Given the description of an element on the screen output the (x, y) to click on. 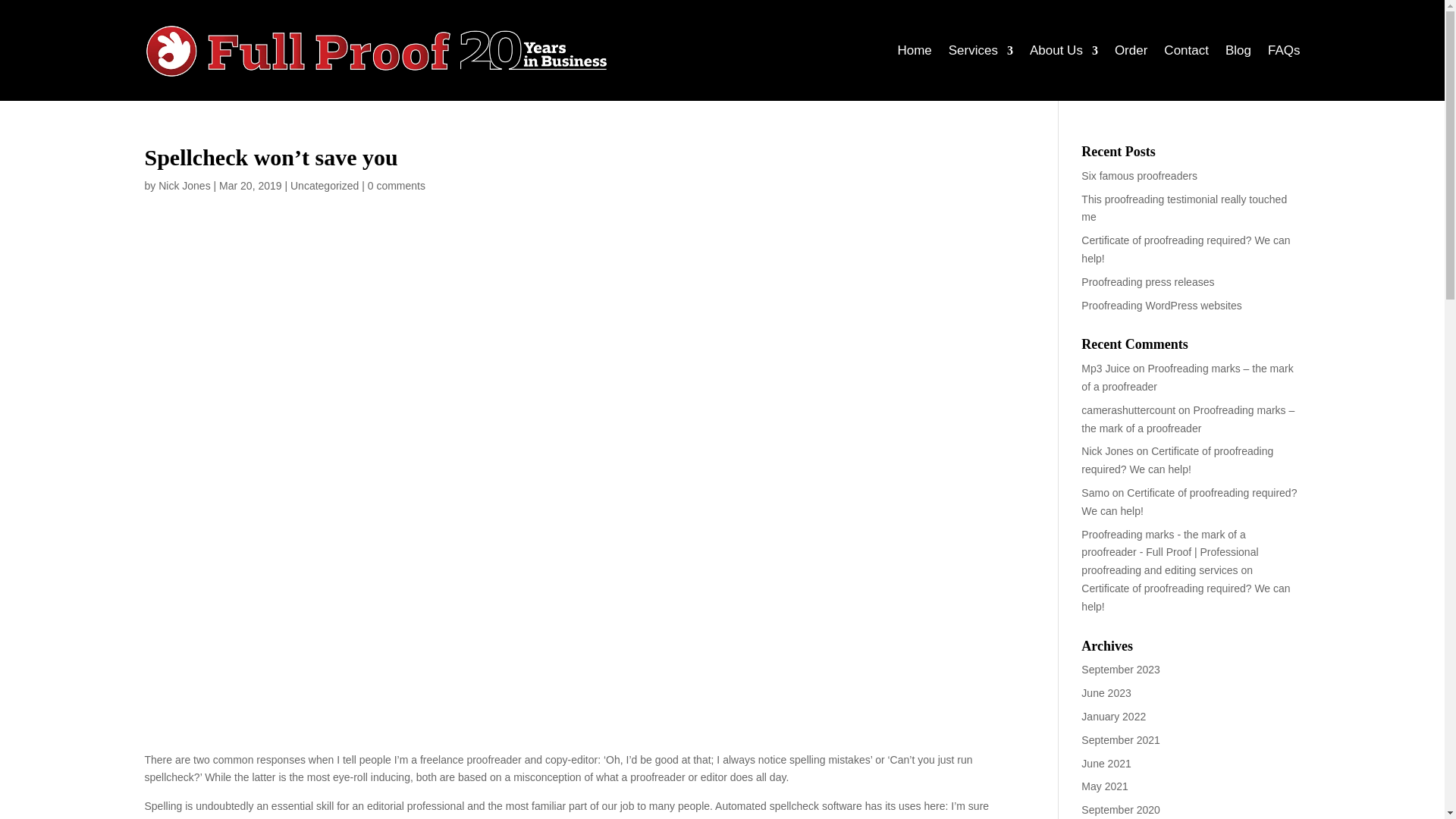
Certificate of proofreading required? We can help! (1185, 597)
0 comments (396, 185)
January 2022 (1113, 716)
Uncategorized (323, 185)
Certificate of proofreading required? We can help! (1176, 460)
About Us (1063, 50)
Posts by Nick Jones (183, 185)
Mp3 Juice (1105, 368)
Services (981, 50)
Nick Jones (1106, 451)
